Given the description of an element on the screen output the (x, y) to click on. 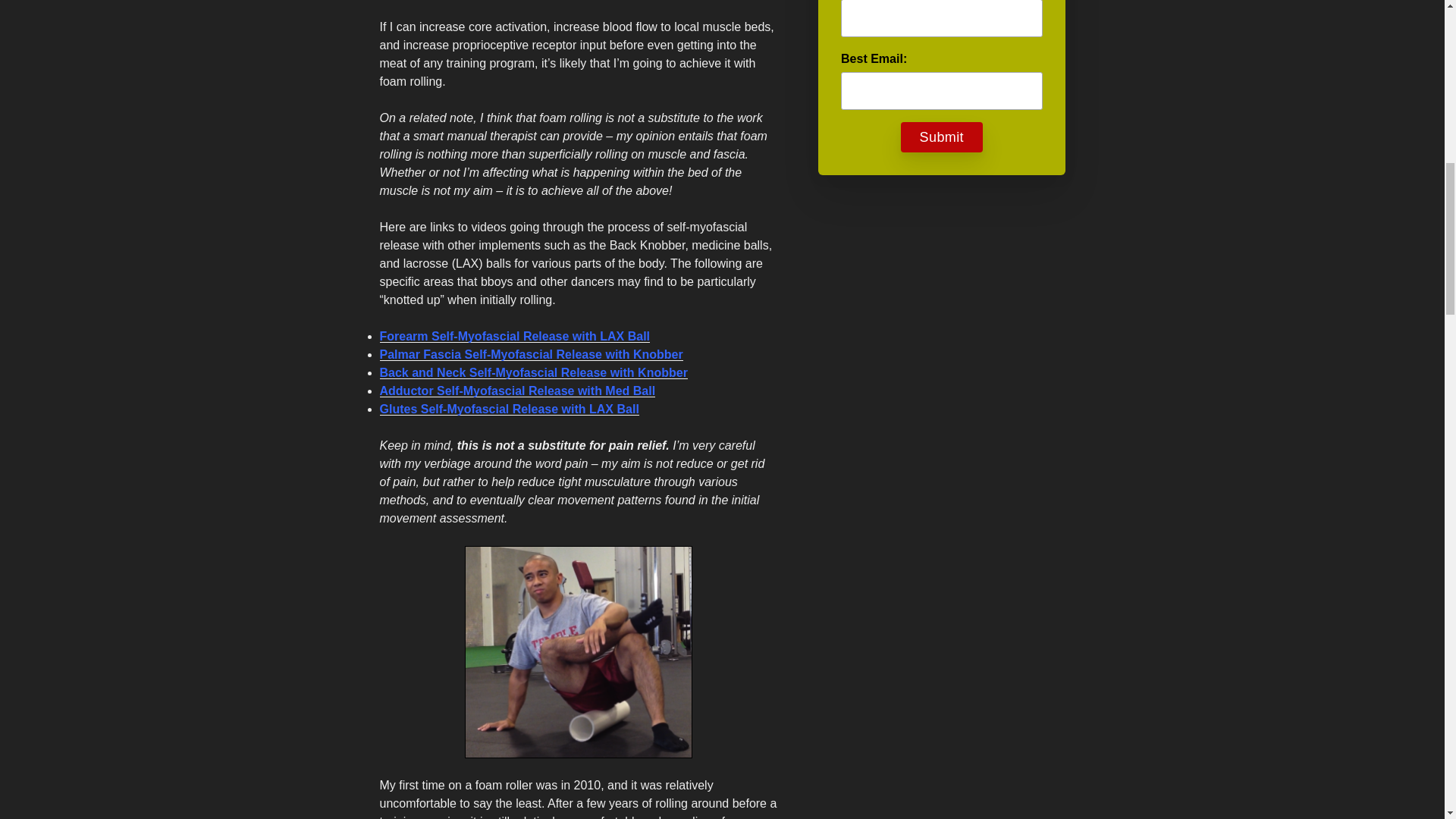
Palmar Fascia Self-Myofascial Release with Knobber (530, 354)
Submit (941, 137)
Glutes Self-Myofascial Release with LAX Ball (508, 408)
Forearm Self-Myofascial Release with LAX Ball (513, 336)
Submit (941, 137)
Back and Neck Self-Myofascial Release with Knobber (532, 372)
Adductor Self-Myofascial Release with Med Ball (516, 390)
